Given the description of an element on the screen output the (x, y) to click on. 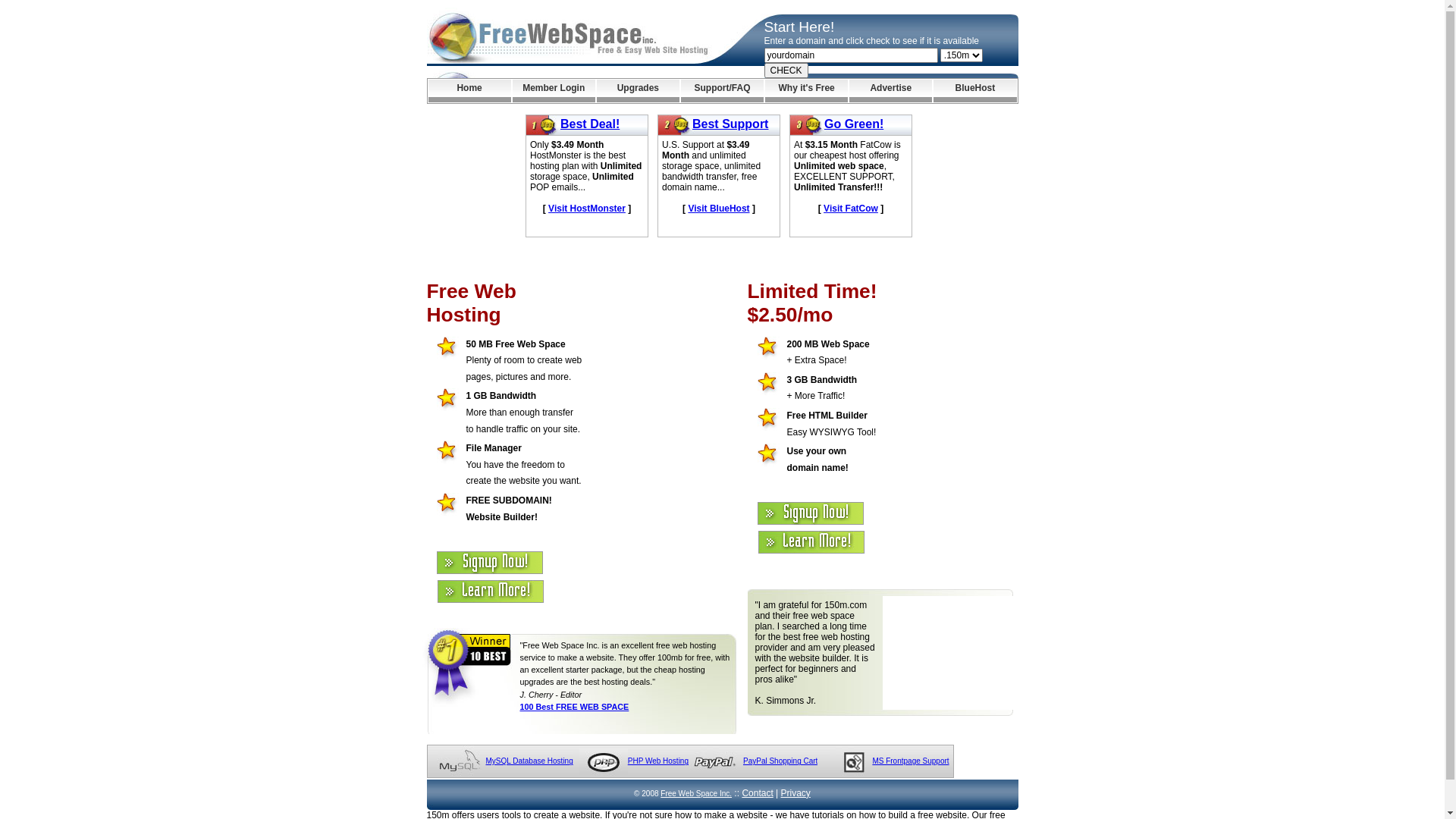
CHECK Element type: text (786, 70)
100 Best FREE WEB SPACE Element type: text (574, 706)
MS Frontpage Support Element type: text (910, 760)
Advertise Element type: text (890, 90)
BlueHost Element type: text (974, 90)
MySQL Database Hosting Element type: text (528, 760)
Why it's Free Element type: text (806, 90)
Member Login Element type: text (553, 90)
Upgrades Element type: text (637, 90)
PayPal Shopping Cart Element type: text (780, 760)
Support/FAQ Element type: text (721, 90)
Home Element type: text (468, 90)
PHP Web Hosting Element type: text (657, 760)
Privacy Element type: text (795, 792)
Contact Element type: text (756, 792)
Free Web Space Inc. Element type: text (695, 793)
